Given the description of an element on the screen output the (x, y) to click on. 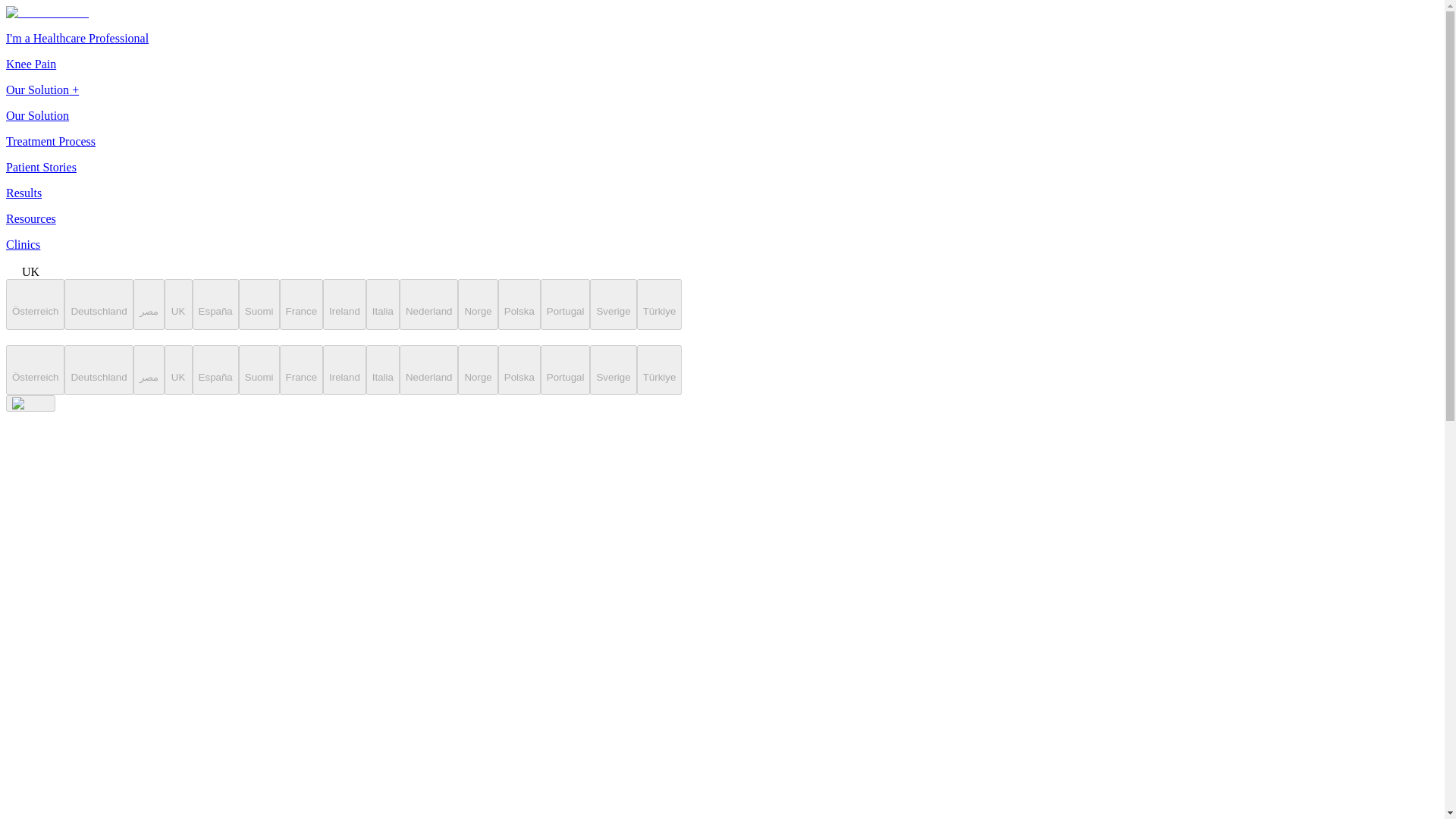
Deutschland (98, 369)
Portugal (565, 369)
Sverige (612, 304)
Nederland (428, 304)
Sverige (612, 369)
Nederland (428, 369)
Deutschland (98, 304)
Portugal (565, 304)
